Given the description of an element on the screen output the (x, y) to click on. 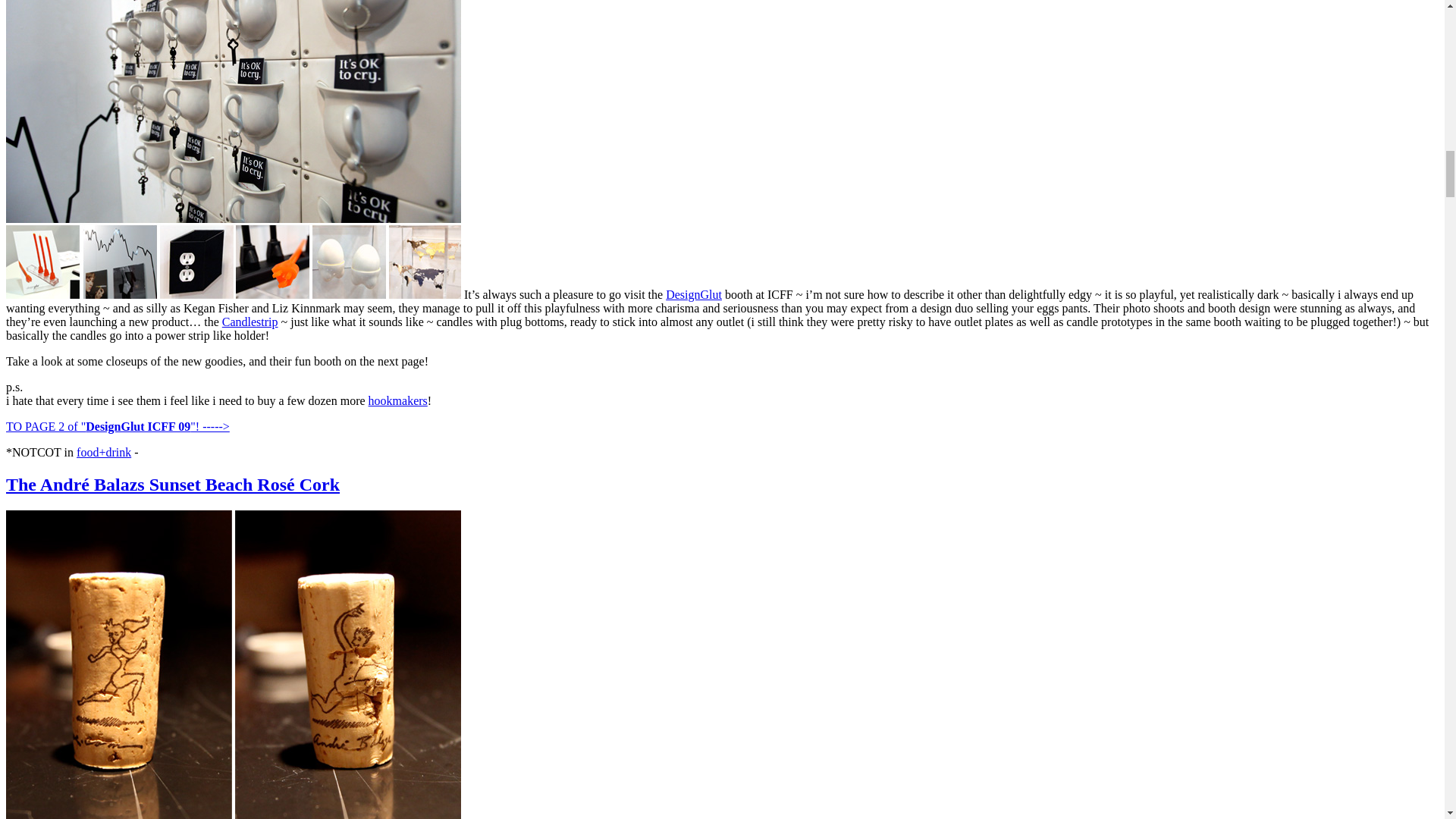
DesignGlut (693, 294)
Candlestrip (250, 321)
